Given the description of an element on the screen output the (x, y) to click on. 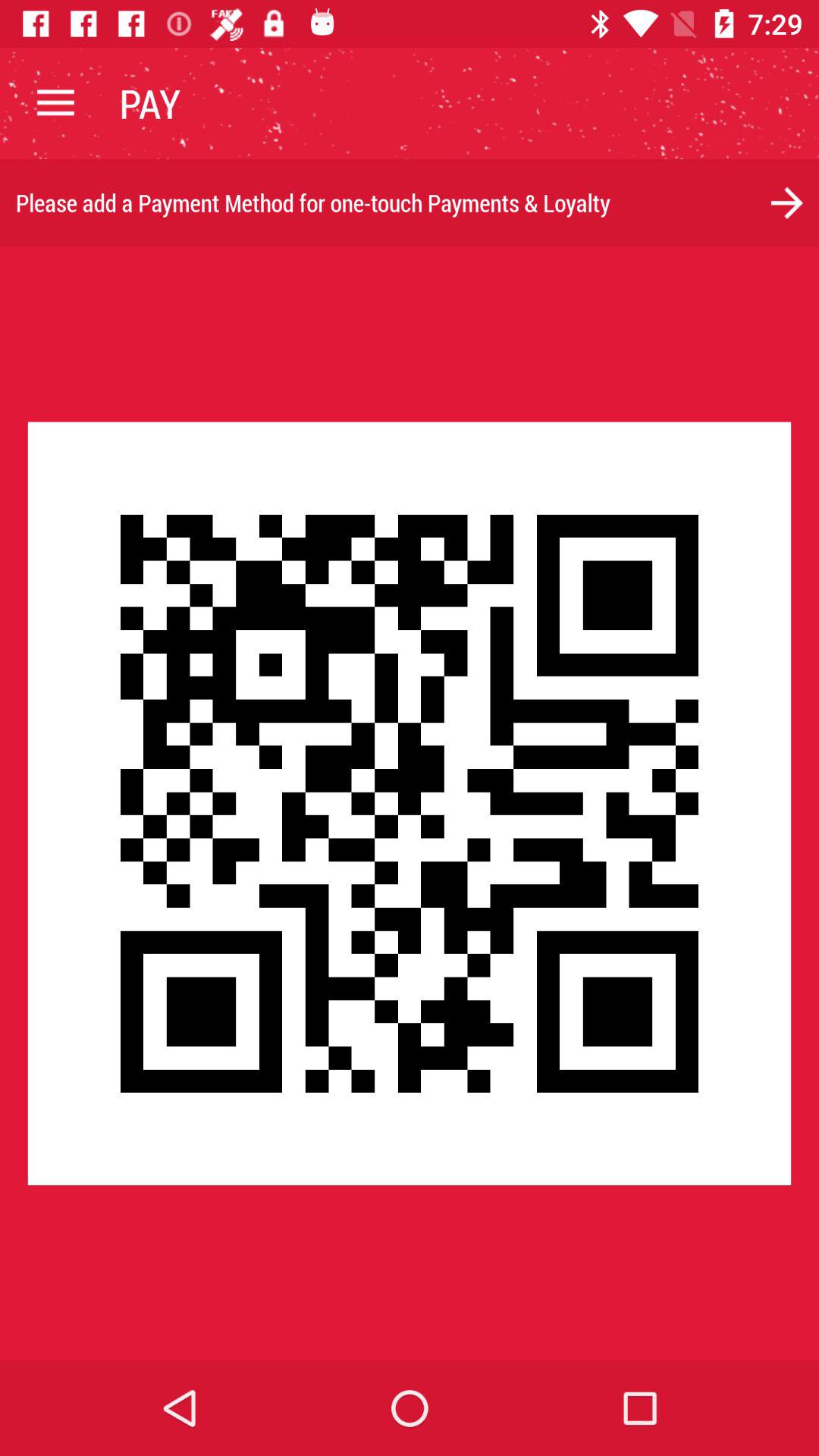
press the please add a item (409, 202)
